Given the description of an element on the screen output the (x, y) to click on. 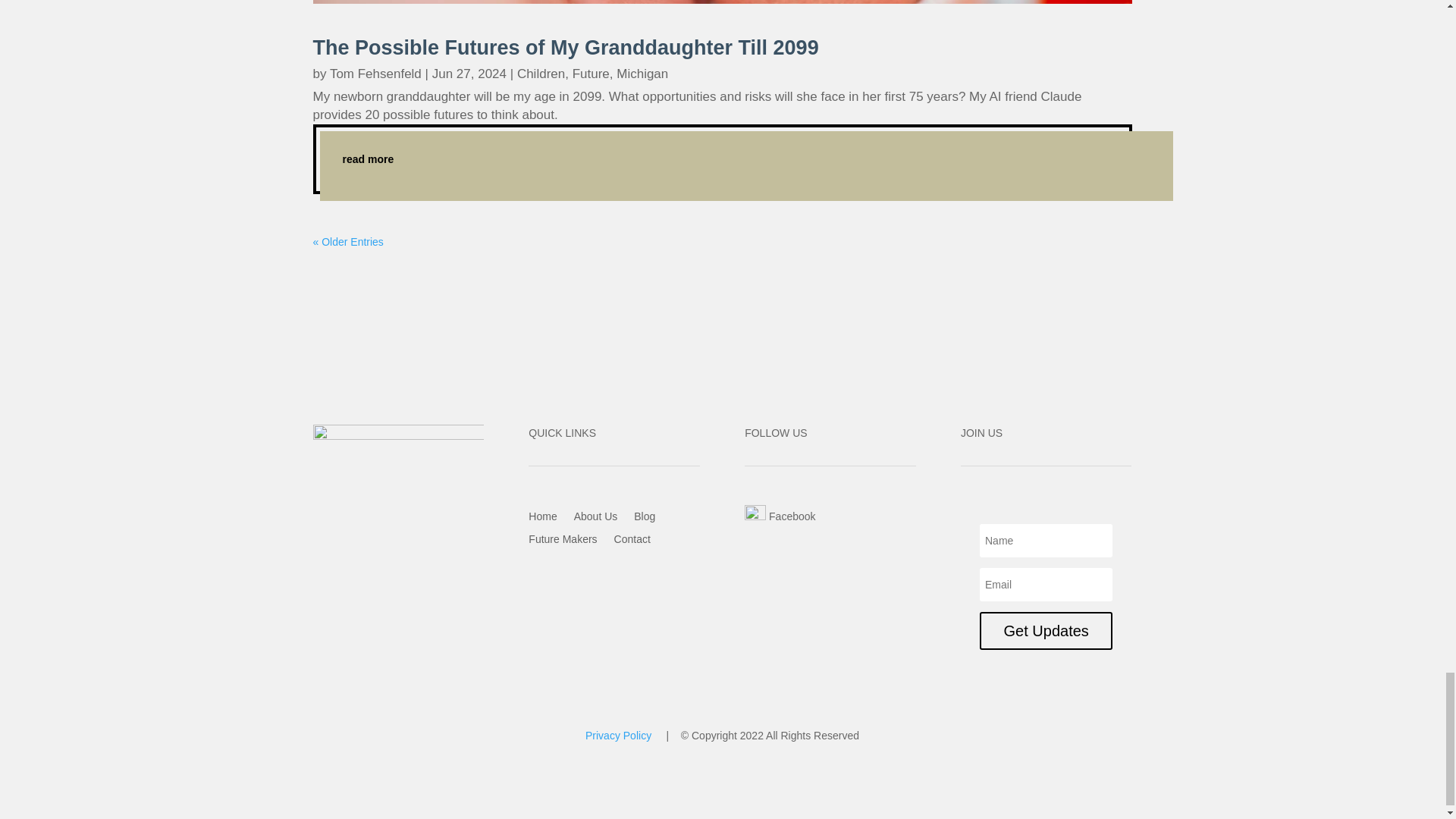
Tom Fehsenfeld (376, 73)
Michigan (641, 73)
The Possible Futures of My Granddaughter Till 2099 (565, 47)
Future (591, 73)
Children (540, 73)
Posts by Tom Fehsenfeld (376, 73)
